Given the description of an element on the screen output the (x, y) to click on. 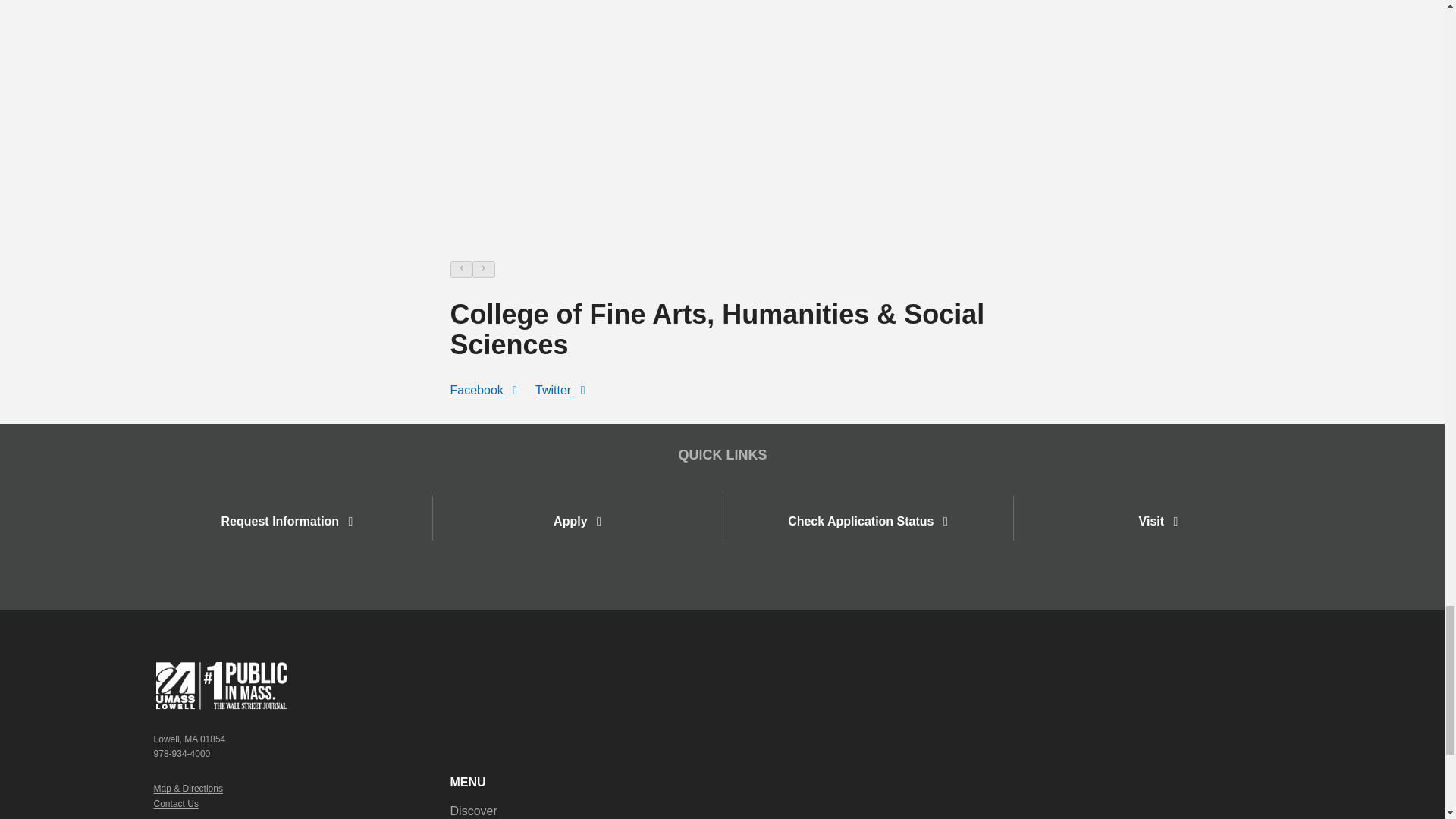
Facebook (483, 390)
Twitter (560, 390)
Facebook (483, 390)
Request Information (286, 521)
Facebook (483, 390)
Twitter (560, 390)
